Given the description of an element on the screen output the (x, y) to click on. 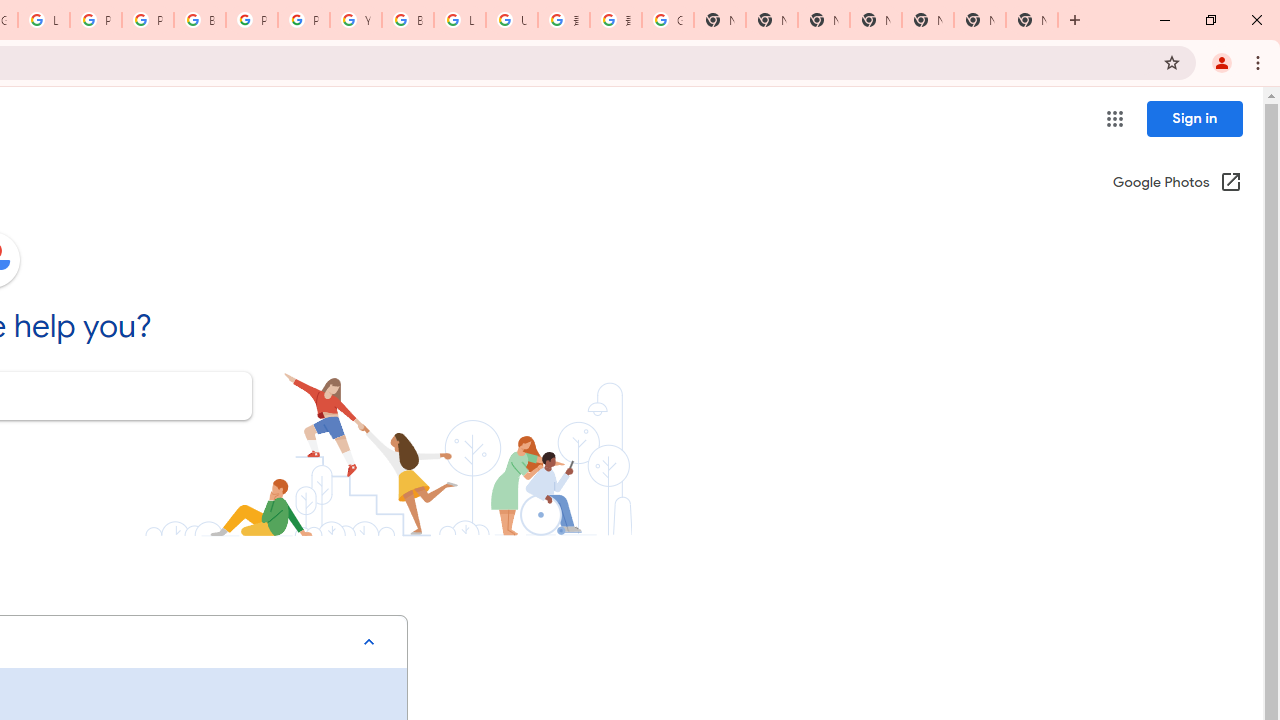
New Tab (1032, 20)
New Tab (875, 20)
Google Images (667, 20)
Privacy Help Center - Policies Help (147, 20)
YouTube (355, 20)
Privacy Help Center - Policies Help (95, 20)
